Given the description of an element on the screen output the (x, y) to click on. 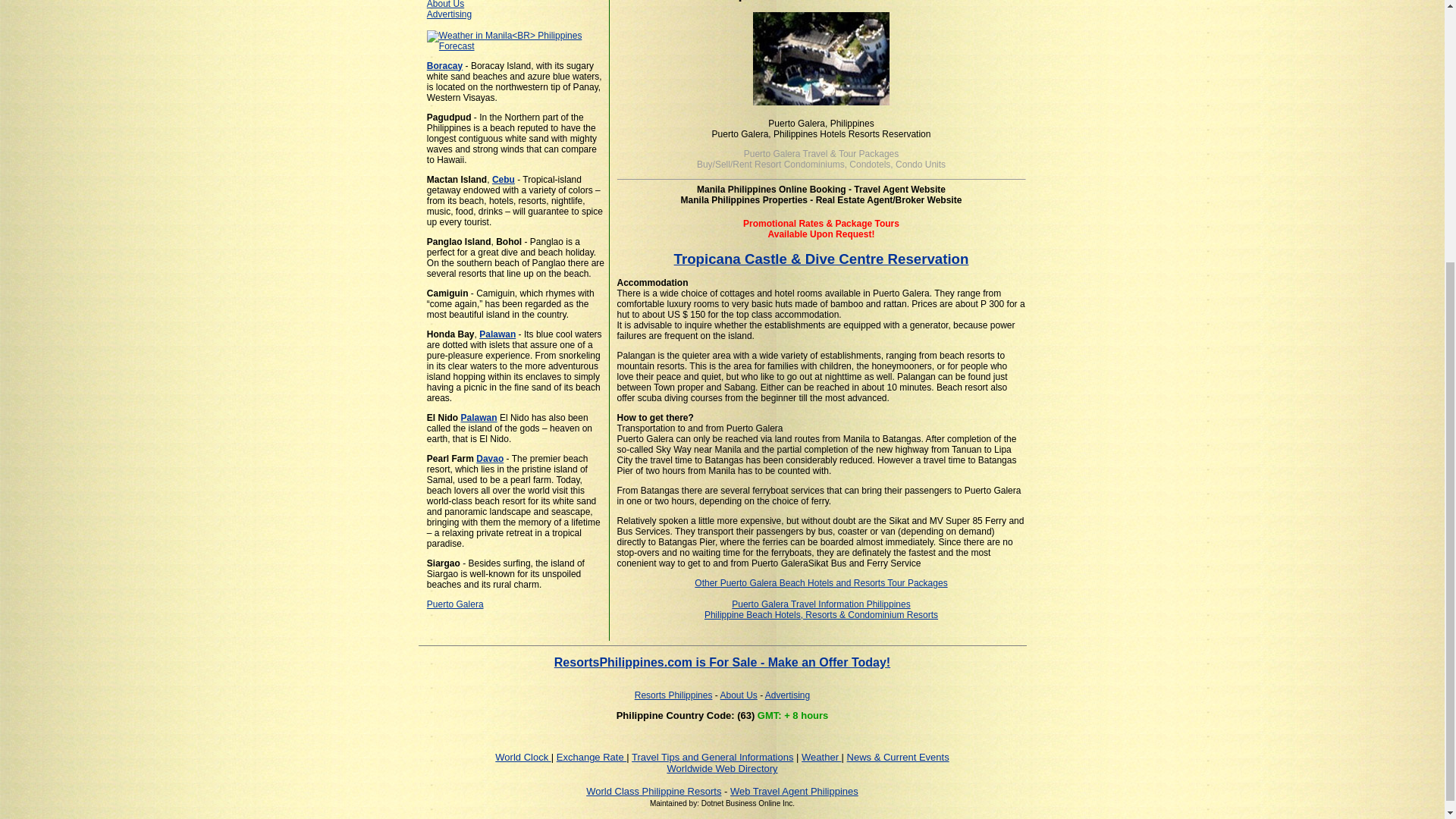
Puerto Galera (454, 603)
Exchange Rate (591, 756)
Web Travel Agent Philippines (794, 790)
Davao (489, 458)
Resorts Philippines (673, 695)
ResortsPhilippines.com is For Sale - Make an Offer Today! (721, 662)
Palawan (479, 417)
Other Puerto Galera Beach Hotels and Resorts Tour Packages (820, 583)
About Us (445, 4)
Weather (821, 756)
